Given the description of an element on the screen output the (x, y) to click on. 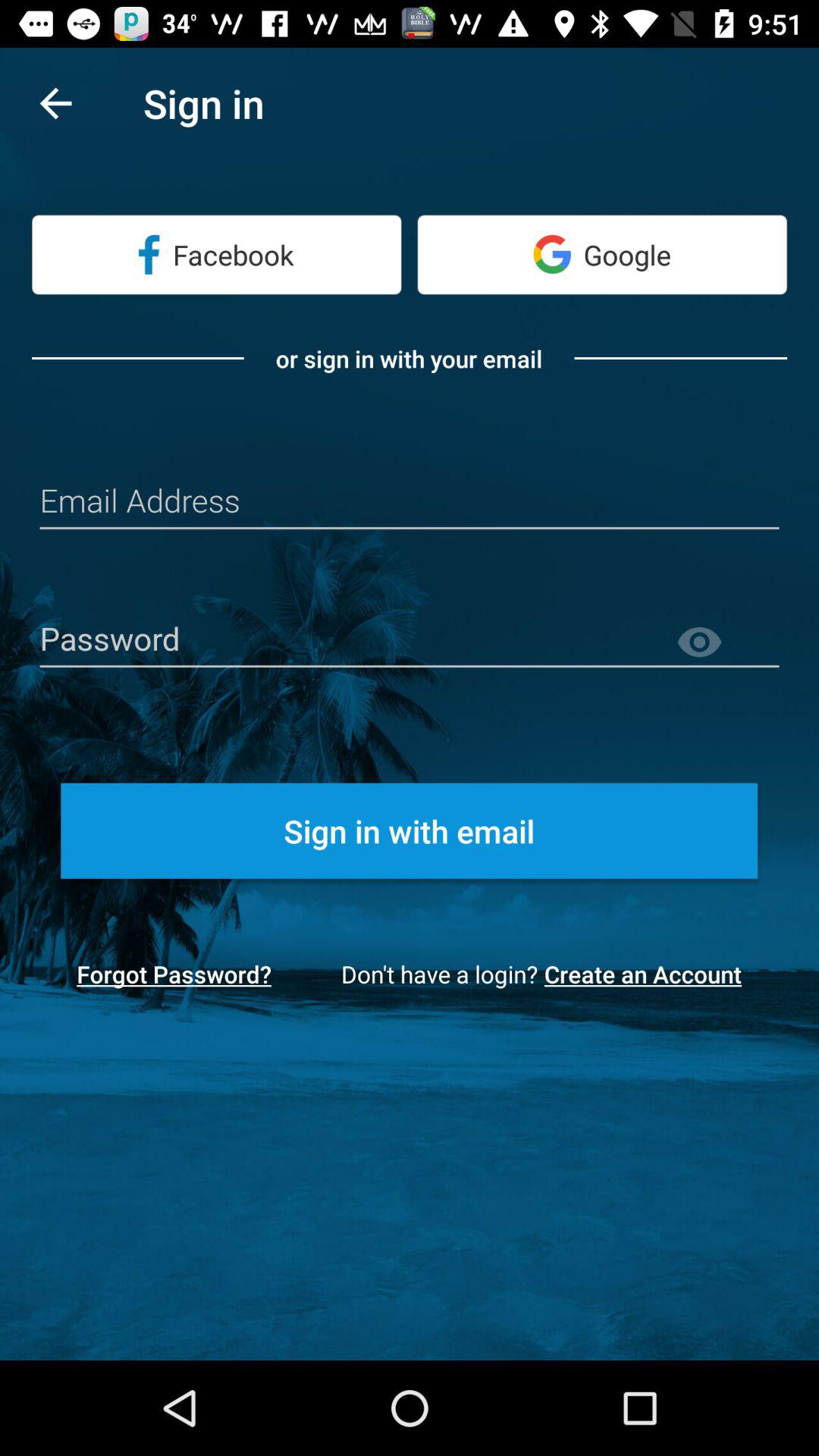
select item next to don t have icon (647, 974)
